Given the description of an element on the screen output the (x, y) to click on. 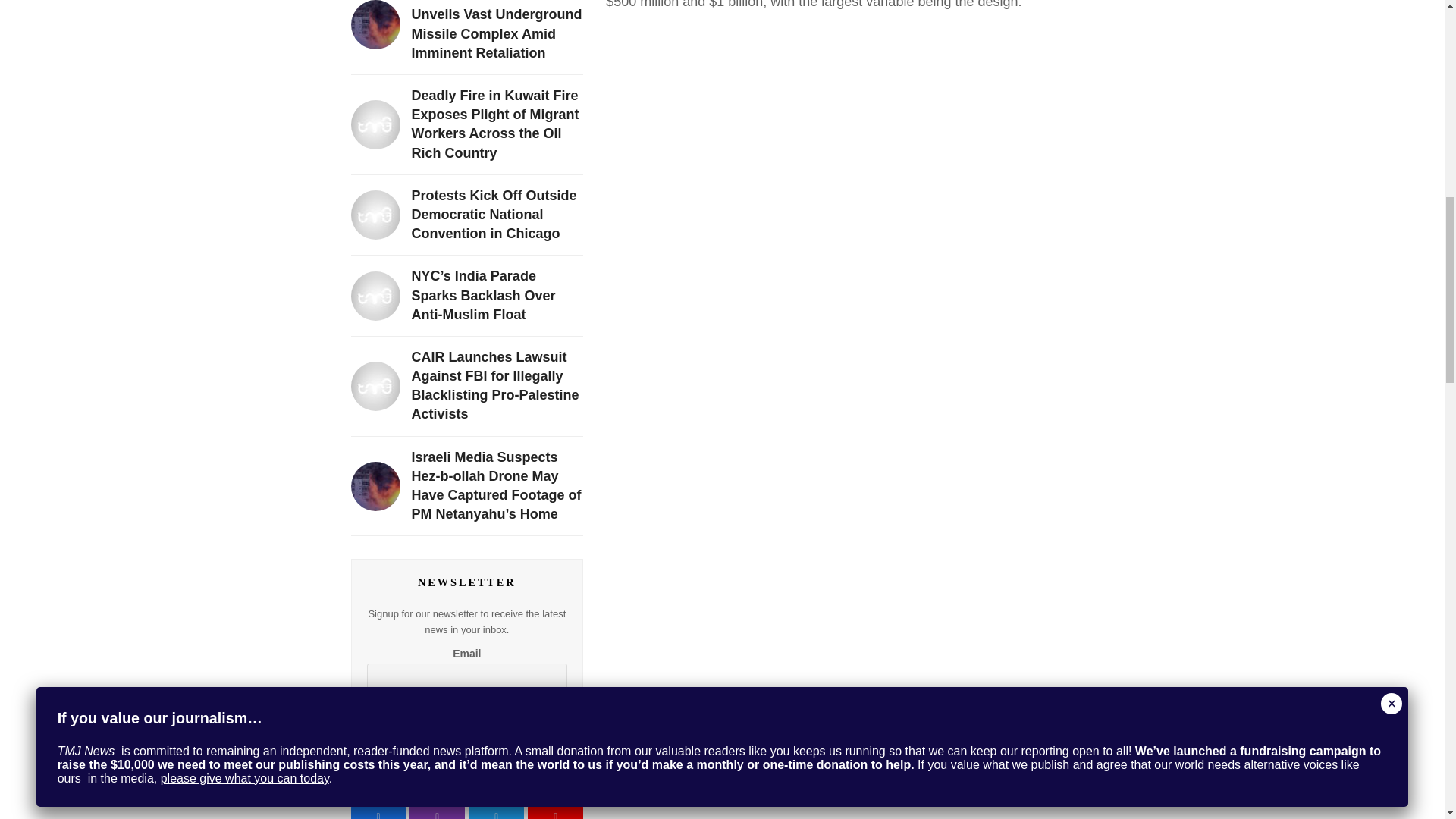
Twitter (496, 812)
Subscribe (466, 714)
Facebook (378, 812)
Youtube (555, 812)
Instagram (436, 812)
